Given the description of an element on the screen output the (x, y) to click on. 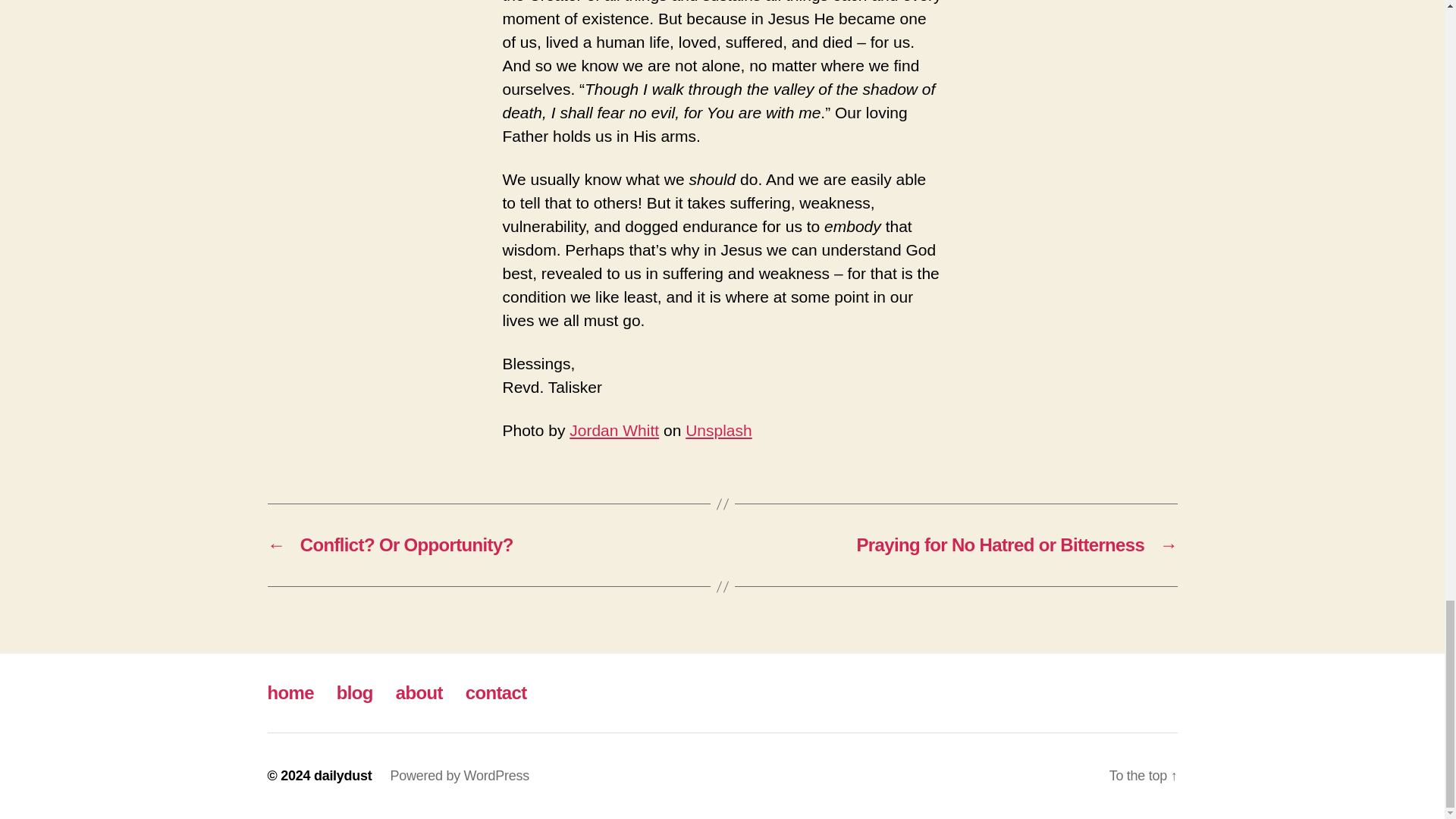
Jordan Whitt (614, 429)
blog (354, 692)
contact (496, 692)
Unsplash (718, 429)
about (419, 692)
home (289, 692)
Powered by WordPress (459, 775)
dailydust (343, 775)
